Given the description of an element on the screen output the (x, y) to click on. 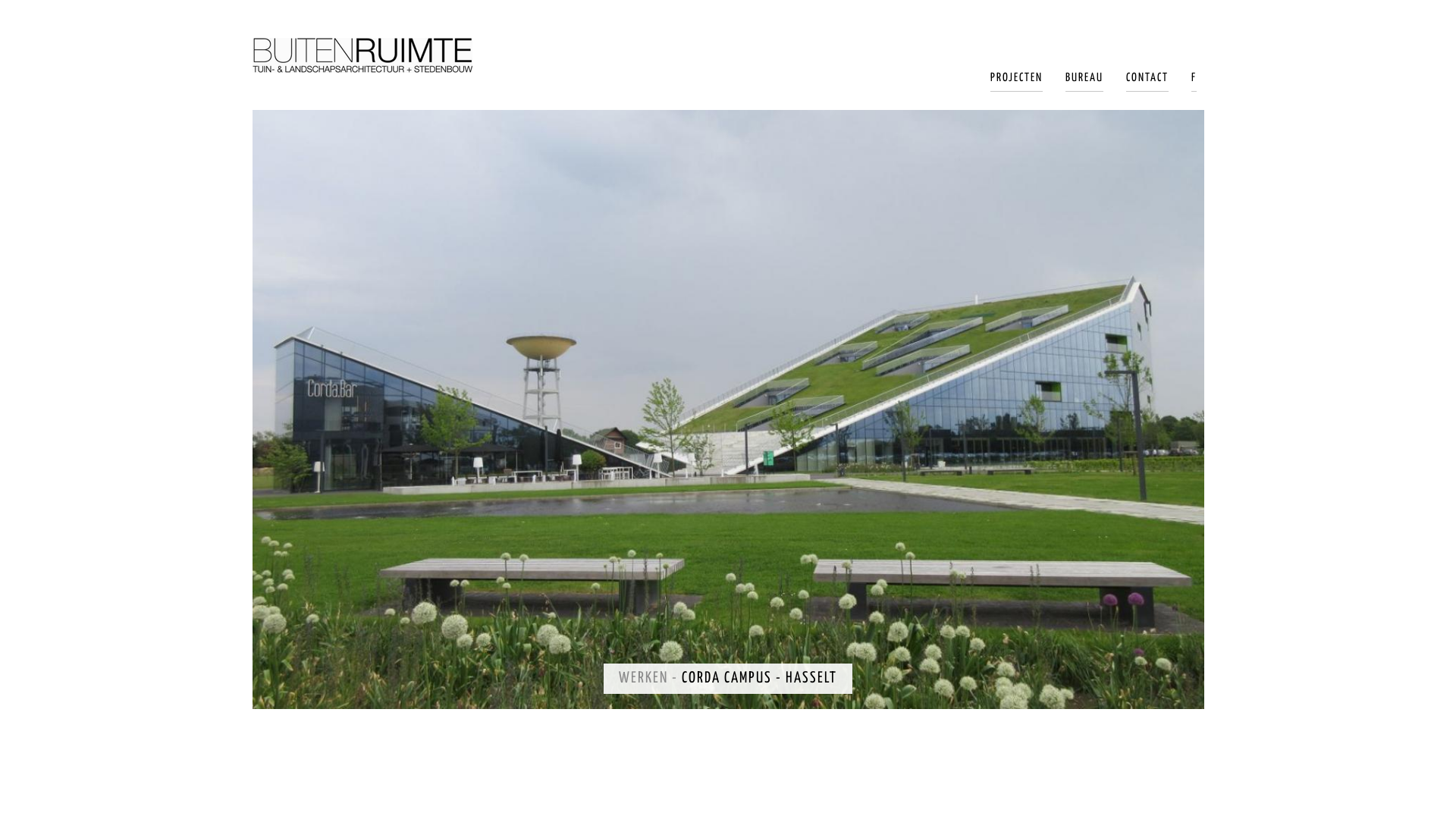
BUREAU Element type: text (1083, 81)
CONTACT Element type: text (1146, 81)
PROJECTEN Element type: text (1016, 81)
Home Element type: hover (361, 54)
F Element type: text (1192, 81)
WERKEN - CORDA CAMPUS - HASSELT Element type: text (727, 678)
